Given the description of an element on the screen output the (x, y) to click on. 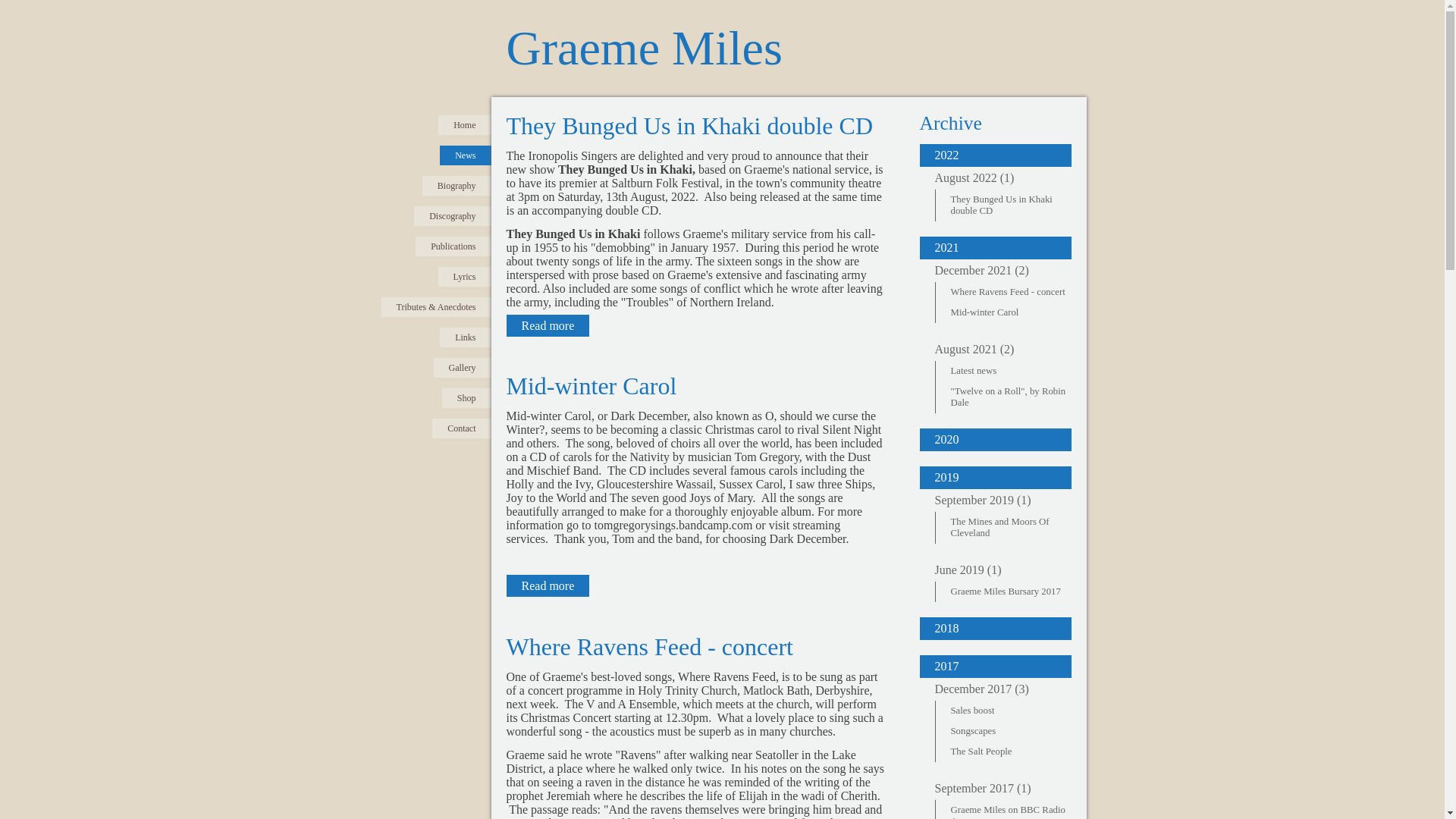
2017 (994, 666)
View Blog Posts From 2020 (994, 439)
View Blog Posts From  2017 (994, 689)
View Blog Posts From  2021 (994, 270)
View Blog Posts From 2022 (994, 155)
Links (464, 337)
View Blog Posts From  2019 (994, 499)
They Bunged Us in Khaki double CD (689, 125)
Where Ravens Feed - concert (1011, 291)
Lyrics (465, 276)
2019 (994, 477)
"Twelve on a Roll", by Robin Dale (1011, 397)
Mid-winter Carol (1011, 312)
Biography (457, 185)
View Blog Posts From 2019 (994, 477)
